Given the description of an element on the screen output the (x, y) to click on. 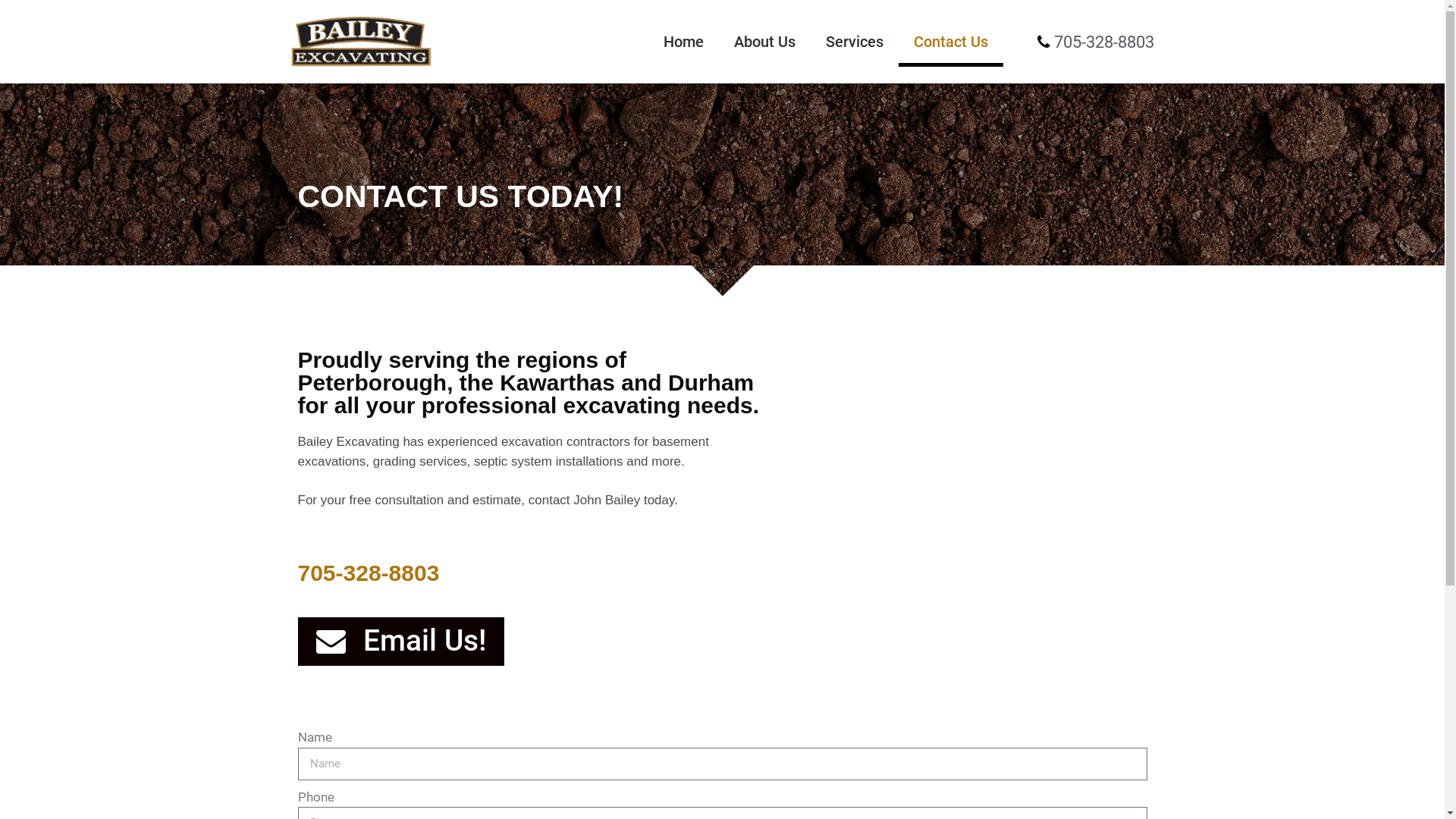
705-328-8803 Element type: text (368, 571)
Email Us! Element type: text (400, 641)
Home Element type: text (683, 41)
Contact Us Element type: text (950, 41)
About Us Element type: text (764, 41)
Services Element type: text (854, 41)
